Given the description of an element on the screen output the (x, y) to click on. 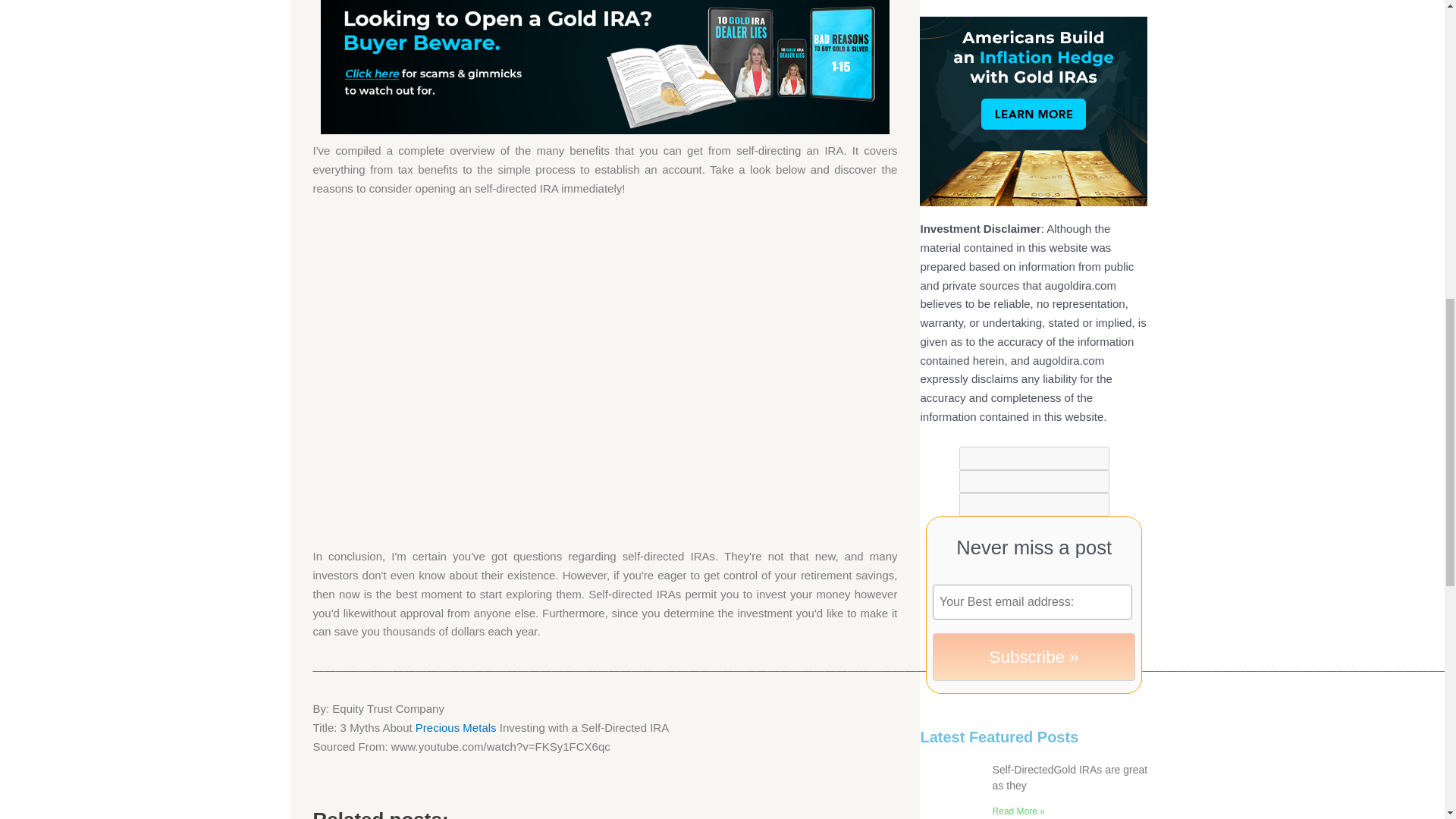
Your Best email address: (1032, 601)
Precious Metals (455, 727)
